Given the description of an element on the screen output the (x, y) to click on. 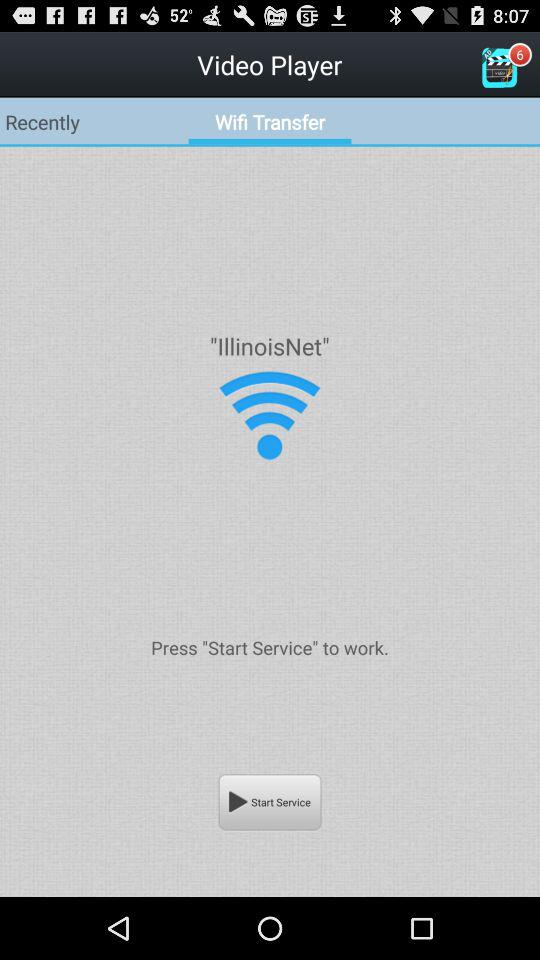
change wireless settings for that connection (269, 415)
